Given the description of an element on the screen output the (x, y) to click on. 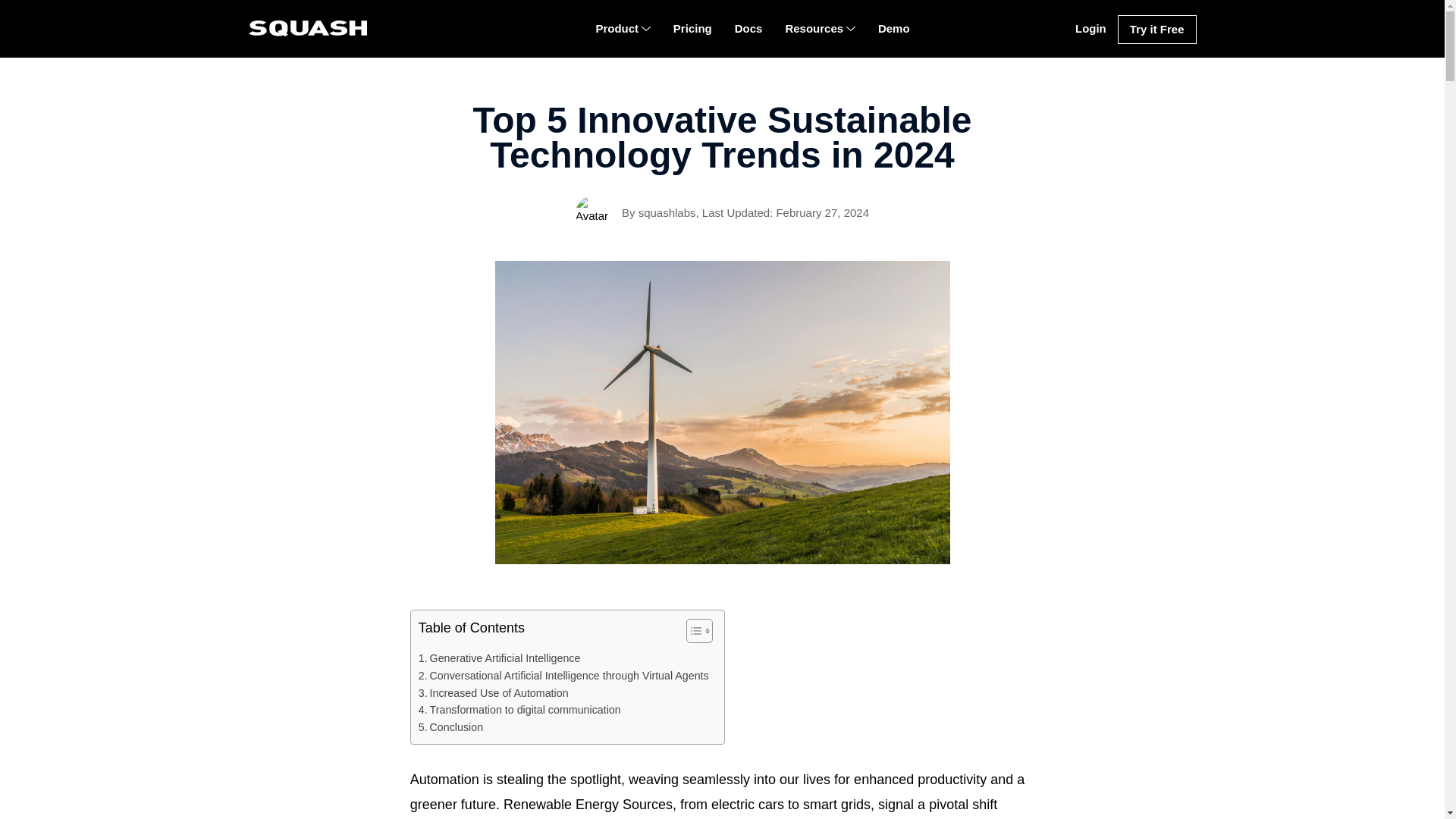
Increased Use of Automation (494, 692)
Product (622, 28)
Product (622, 28)
Generative Artificial Intelligence (499, 658)
Resources (819, 28)
Pricing (692, 28)
Transformation to digital communication (520, 710)
Try it Free (1157, 29)
Demo (893, 28)
Resources (819, 28)
Login (1091, 28)
Pricing (692, 28)
Conclusion (451, 727)
Squash (308, 28)
